Given the description of an element on the screen output the (x, y) to click on. 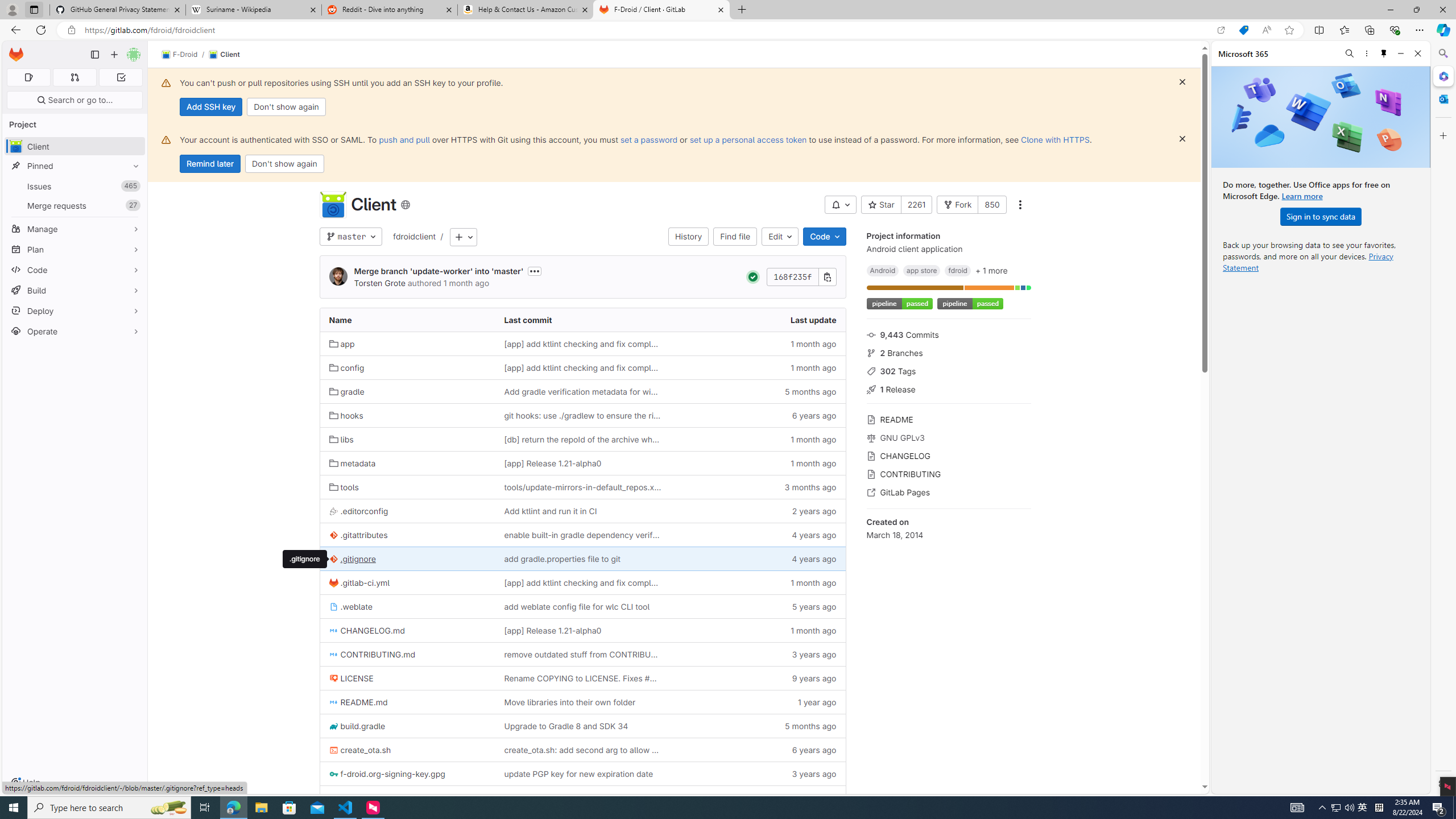
GitHub General Privacy Statement - GitHub Docs (117, 9)
Skip to main content (13, 49)
app (407, 343)
302 Tags (948, 369)
Suriname - Wikipedia (253, 9)
Pipeline: Passed (752, 277)
fdroidclient (414, 236)
2 Branches (948, 351)
1 month ago (757, 630)
To-Do list 0 (120, 76)
.gitattributes (358, 535)
.weblate (350, 606)
